Given the description of an element on the screen output the (x, y) to click on. 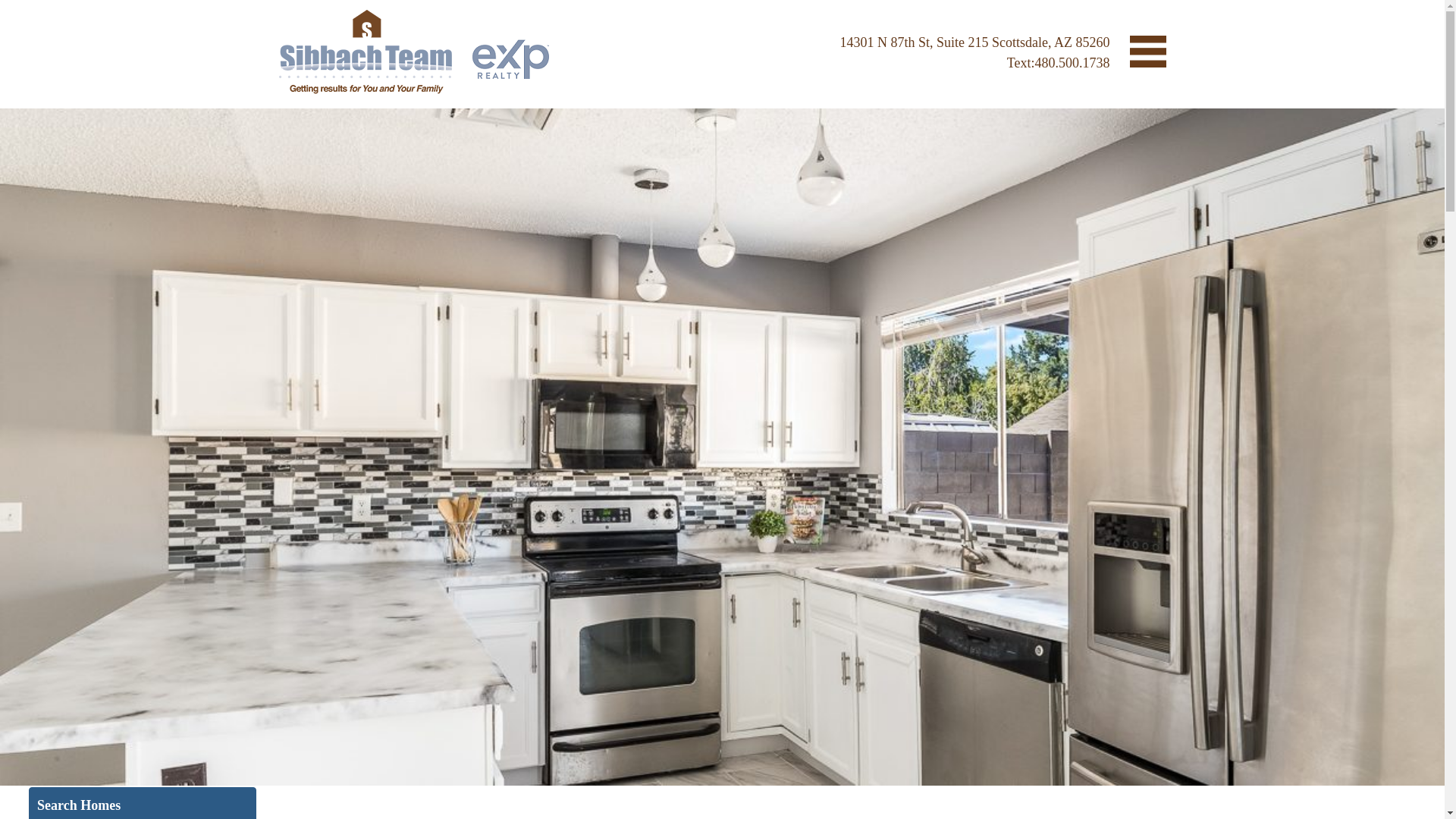
480.500.1738 (1071, 62)
